Given the description of an element on the screen output the (x, y) to click on. 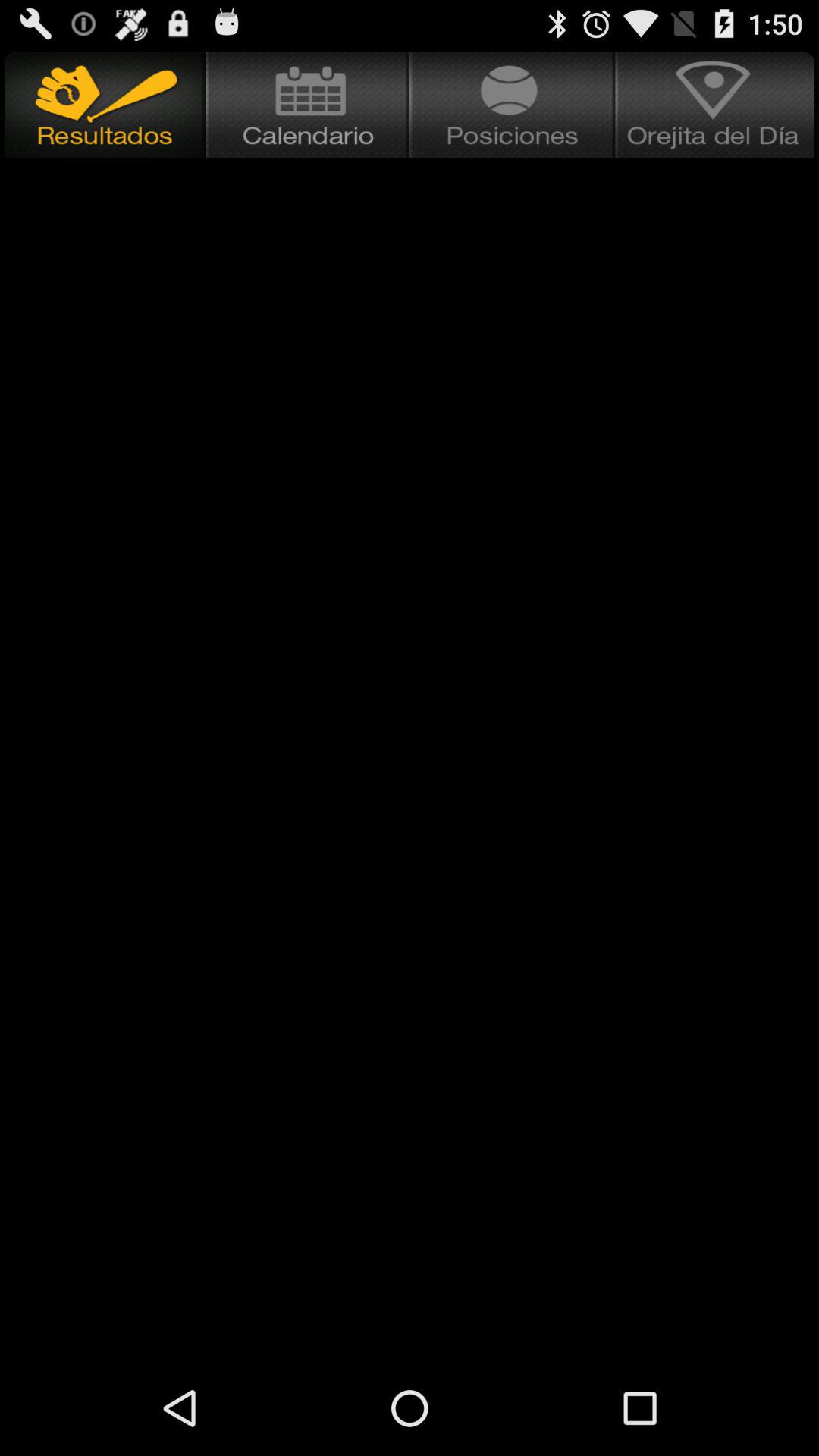
select item at the bottom (409, 1310)
